Given the description of an element on the screen output the (x, y) to click on. 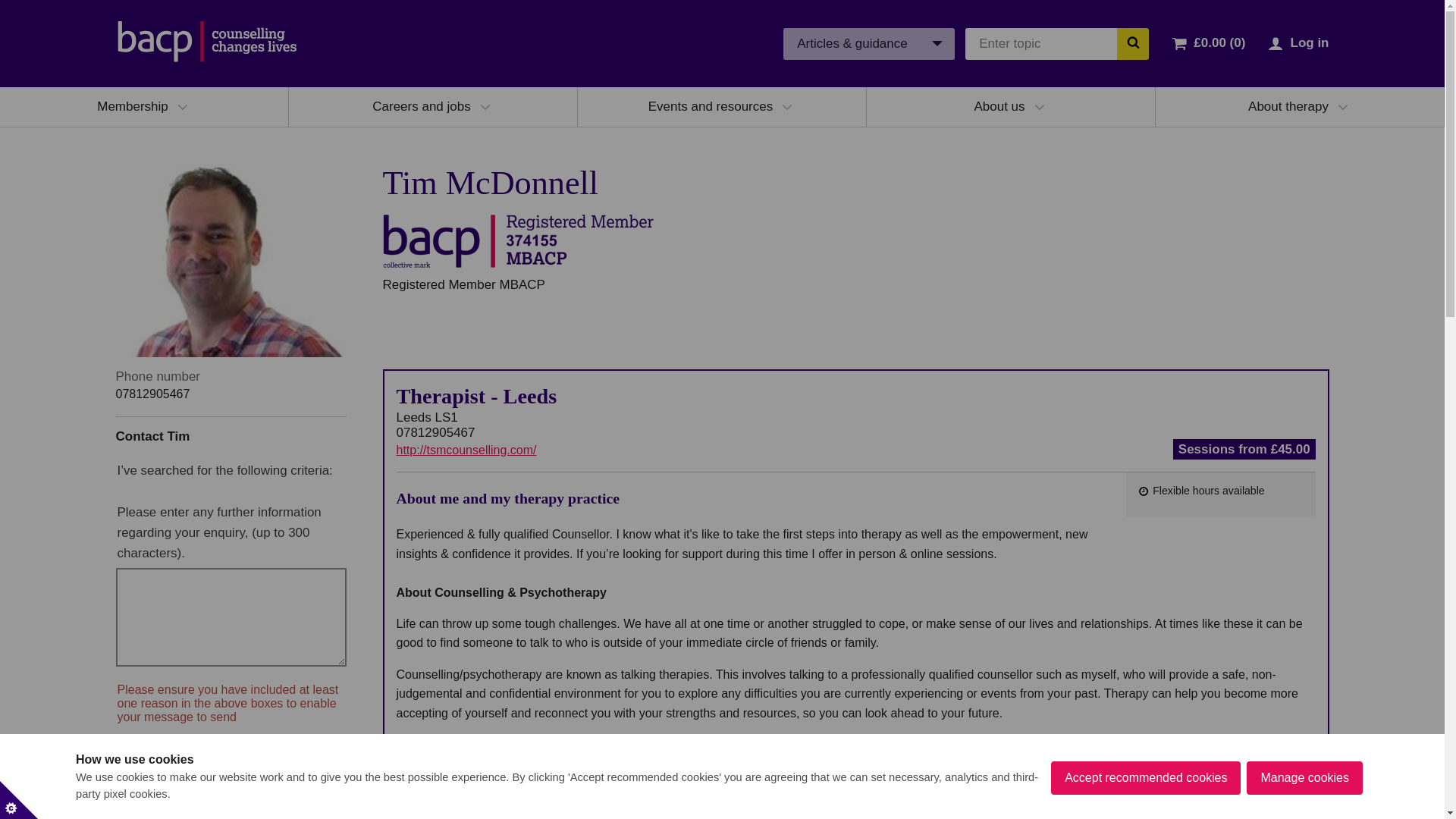
Membership (132, 106)
Events and resources (710, 106)
Search the BACP website (1132, 42)
Log in (1309, 42)
Careers and jobs (421, 106)
